Given the description of an element on the screen output the (x, y) to click on. 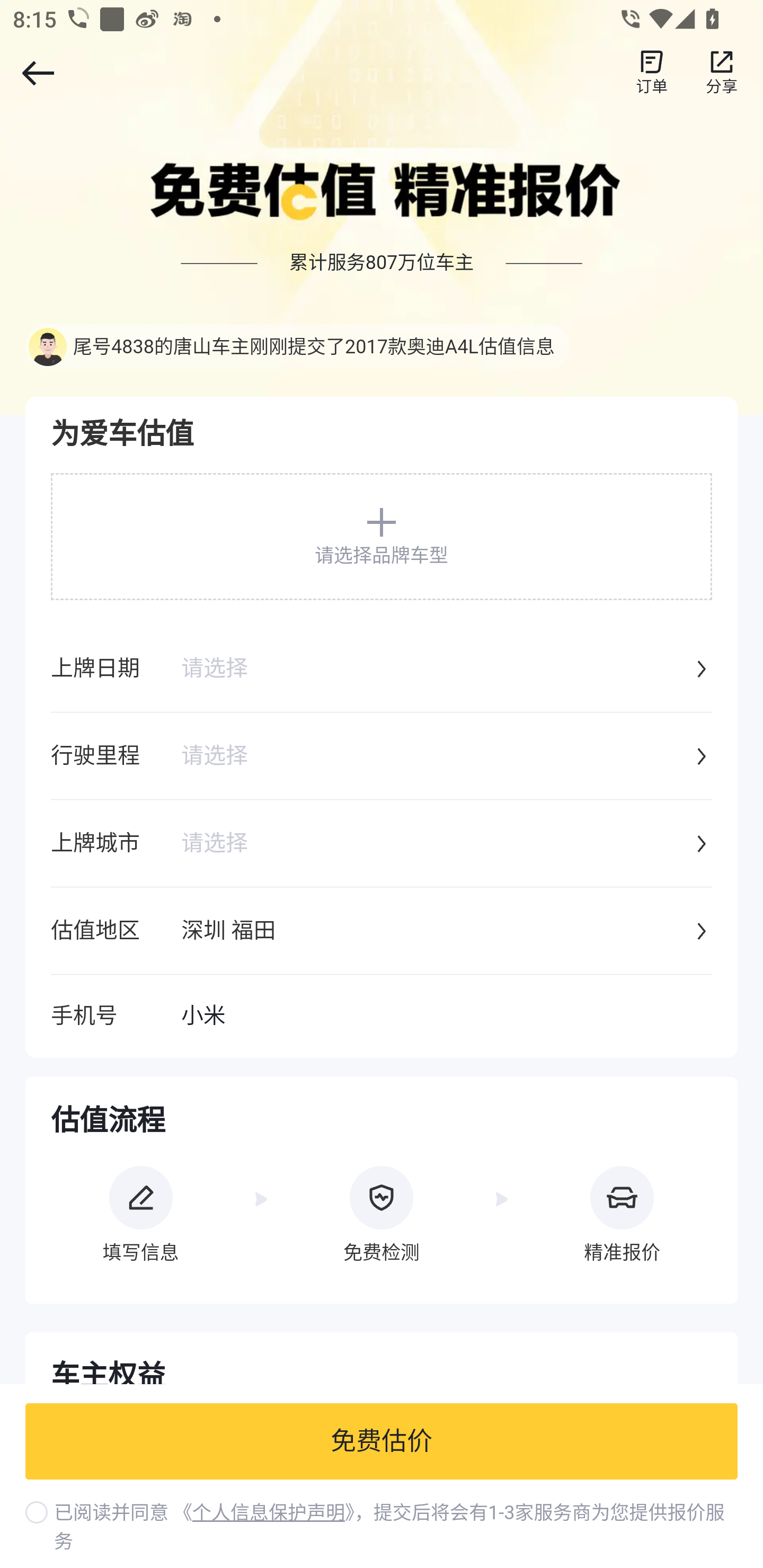
订单 (651, 72)
分享 (721, 72)
请选择品牌车型 (381, 535)
请选择 (435, 669)
请选择 (435, 757)
请选择 (435, 844)
深圳 福田 (435, 932)
小米 (446, 1016)
小米 (446, 1016)
免费估价 (381, 1441)
